Given the description of an element on the screen output the (x, y) to click on. 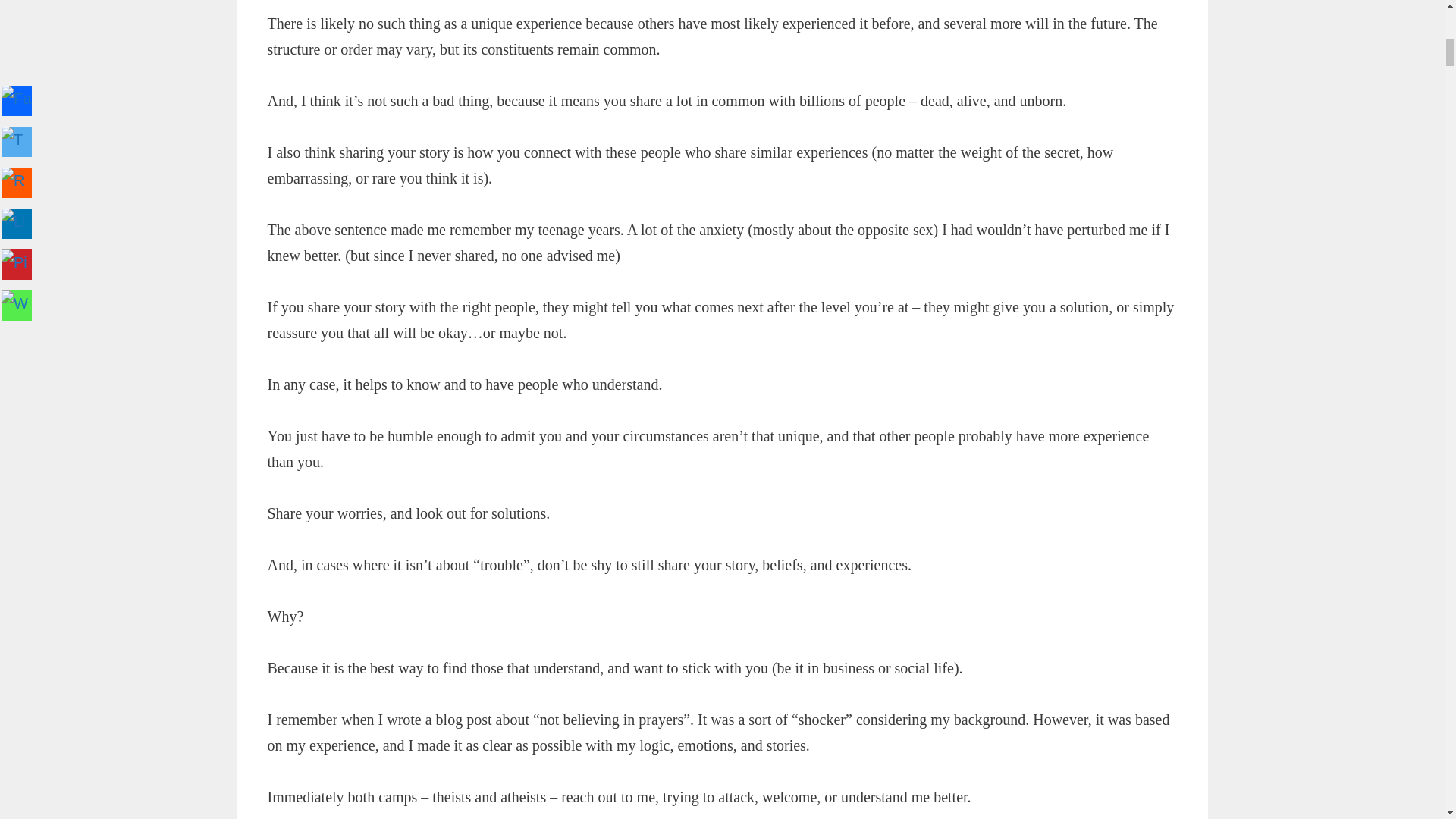
Linkedin (413, 4)
Whatsapp (316, 4)
Reddit (381, 4)
Pinterest (446, 4)
Twitter (347, 4)
Facebook (282, 4)
